Given the description of an element on the screen output the (x, y) to click on. 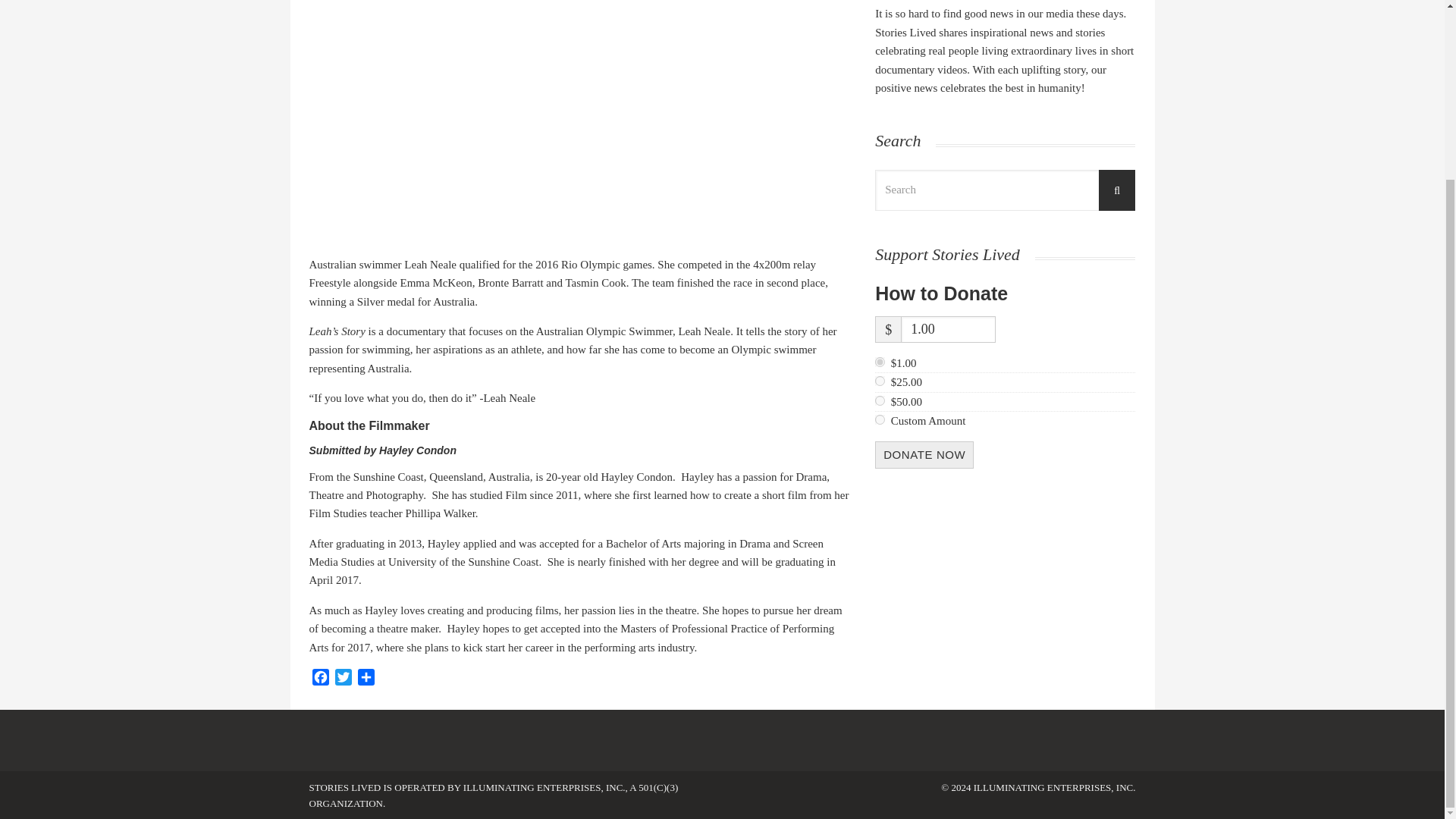
custom (880, 419)
50.00 (880, 400)
Twitter (343, 679)
DONATE NOW (924, 454)
1.00 (948, 329)
Leah's Story - Stories Lived (580, 116)
1.00 (880, 361)
25.00 (880, 380)
Twitter (343, 679)
Facebook (319, 679)
Share (366, 679)
Facebook (319, 679)
